Given the description of an element on the screen output the (x, y) to click on. 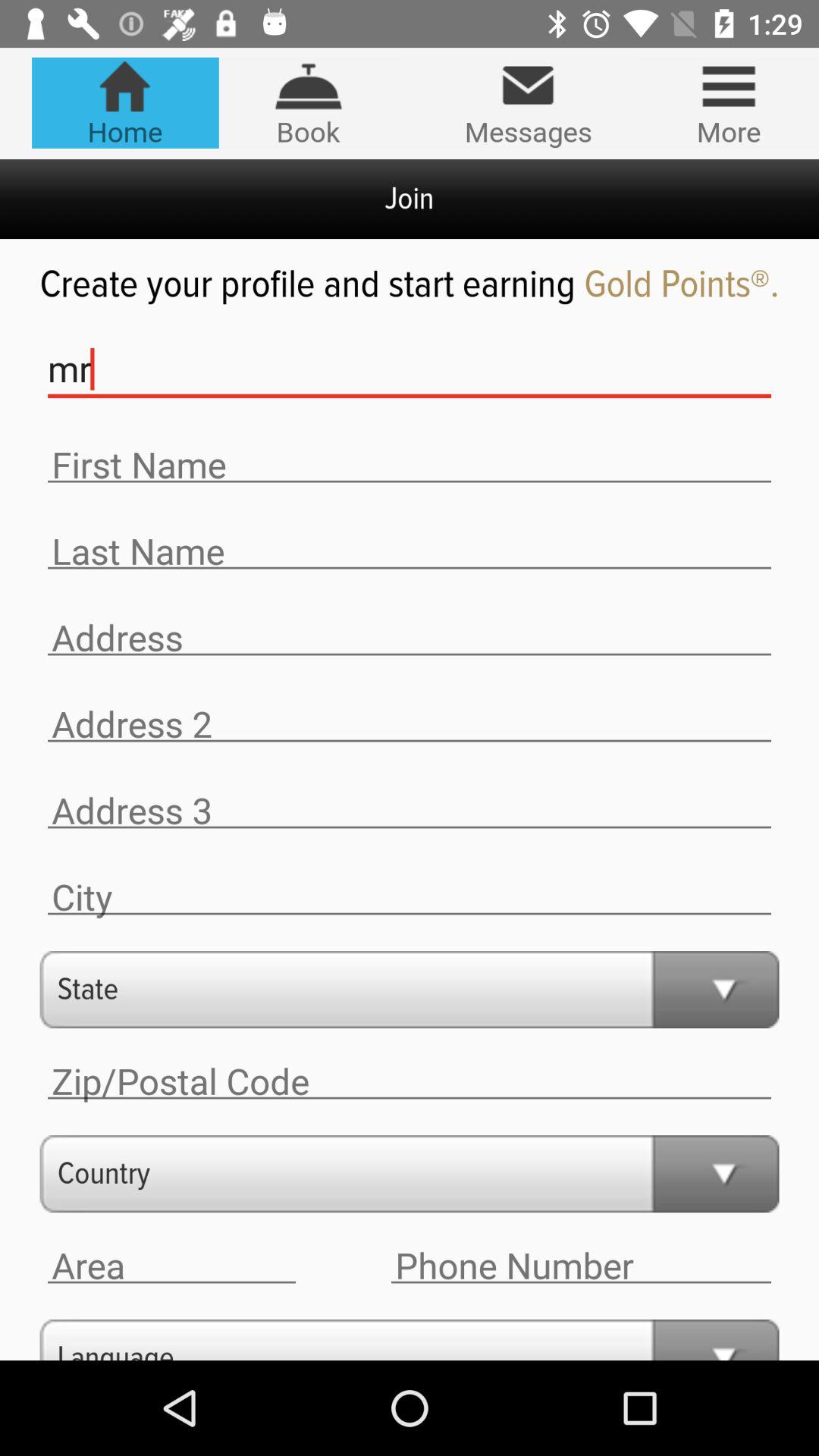
enter phone number (581, 1266)
